Given the description of an element on the screen output the (x, y) to click on. 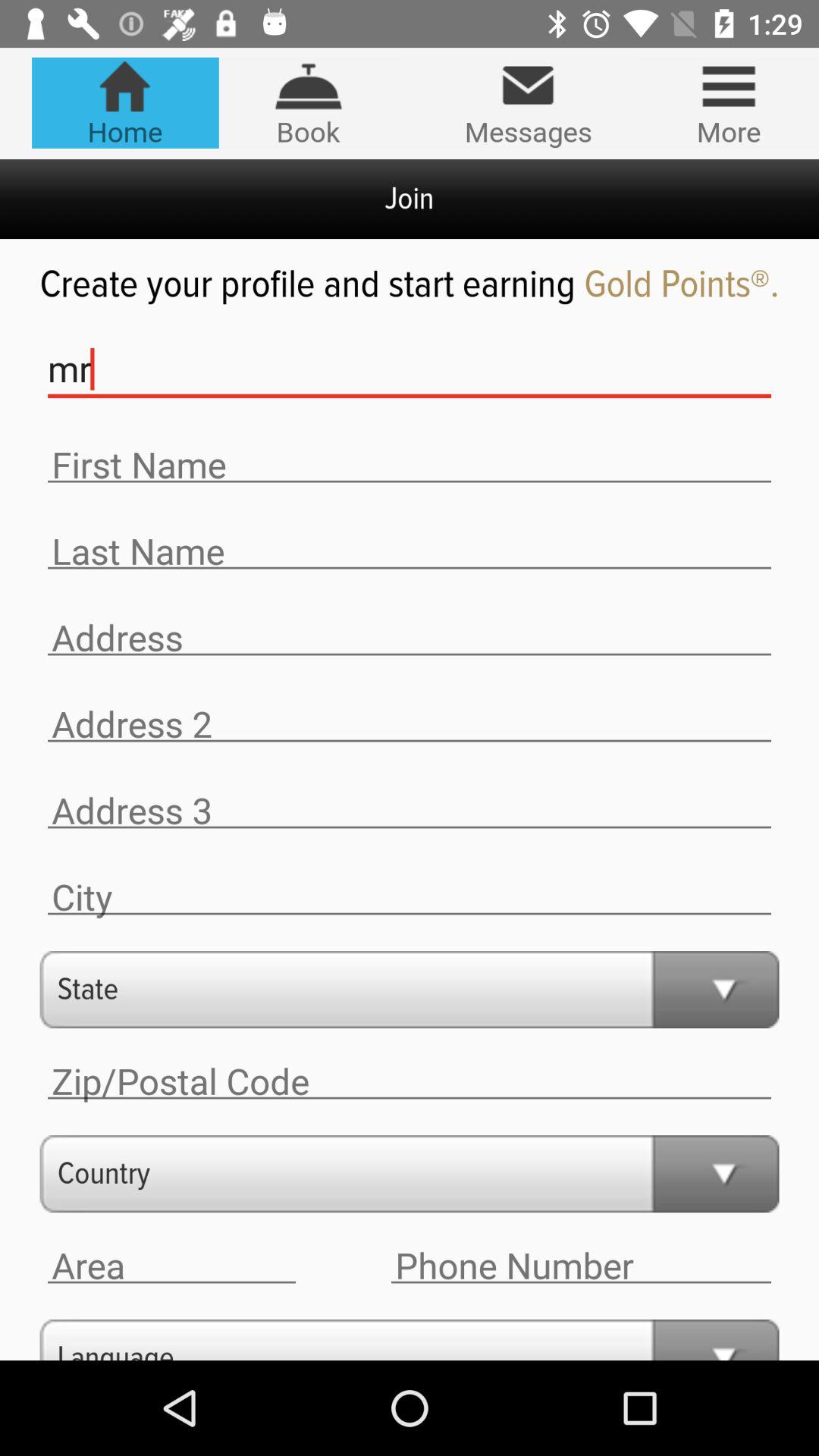
enter phone number (581, 1266)
